Given the description of an element on the screen output the (x, y) to click on. 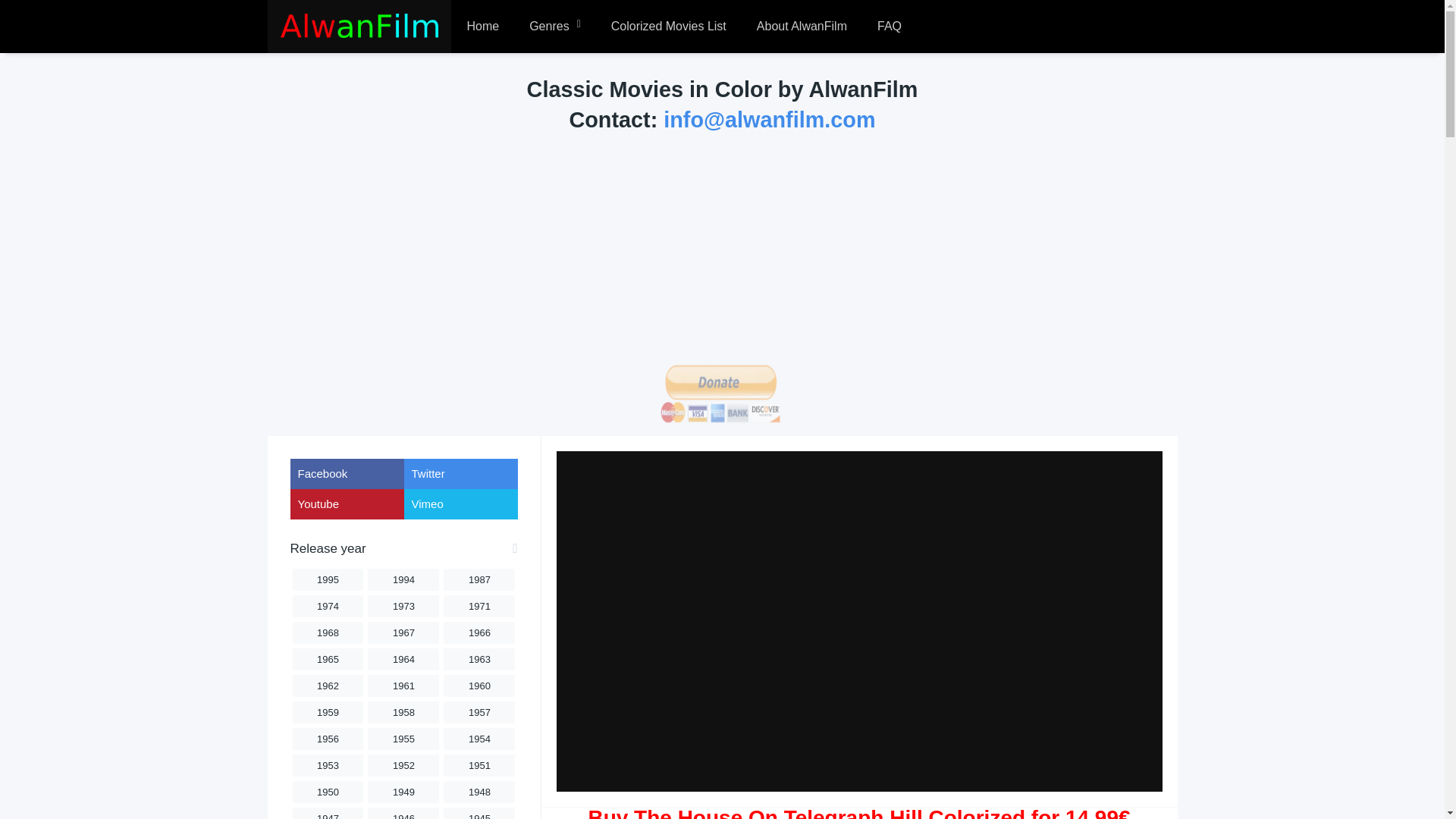
Colorized Movies List (668, 26)
PayPal - The safer, easier way to pay online! (719, 393)
Genres (554, 26)
About AlwanFilm (801, 26)
Home (482, 26)
FAQ (889, 26)
